Given the description of an element on the screen output the (x, y) to click on. 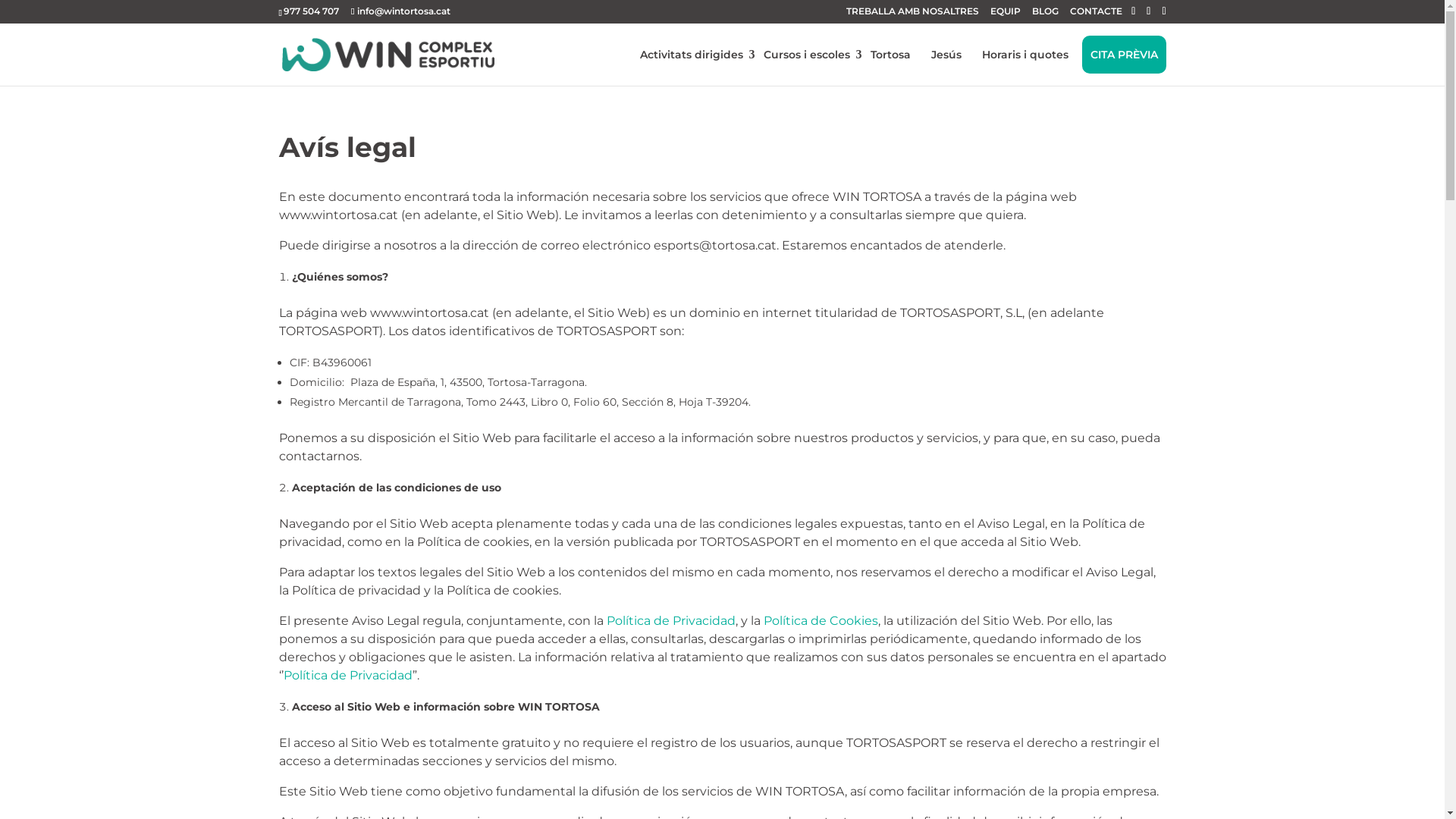
Cursos i escoles Element type: text (806, 54)
Activitats dirigides Element type: text (690, 54)
BLOG Element type: text (1045, 10)
TREBALLA AMB NOSALTRES Element type: text (912, 10)
Tortosa Element type: text (889, 54)
EQUIP Element type: text (1005, 10)
977 504 707 Element type: text (310, 10)
Horaris i quotes Element type: text (1025, 54)
info@wintortosa.cat Element type: text (400, 10)
CONTACTE Element type: text (1096, 10)
